Given the description of an element on the screen output the (x, y) to click on. 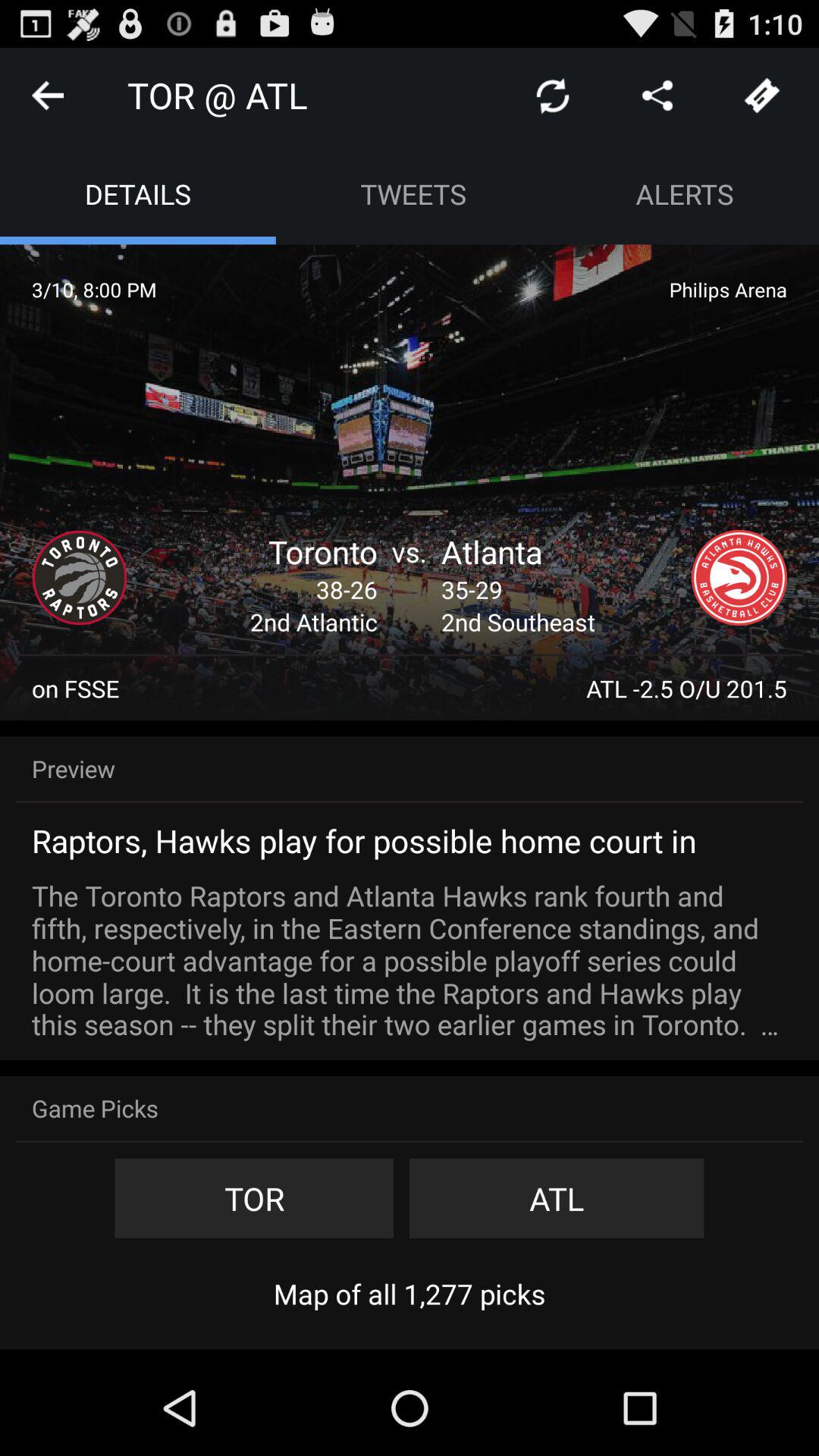
share the article (657, 95)
